Given the description of an element on the screen output the (x, y) to click on. 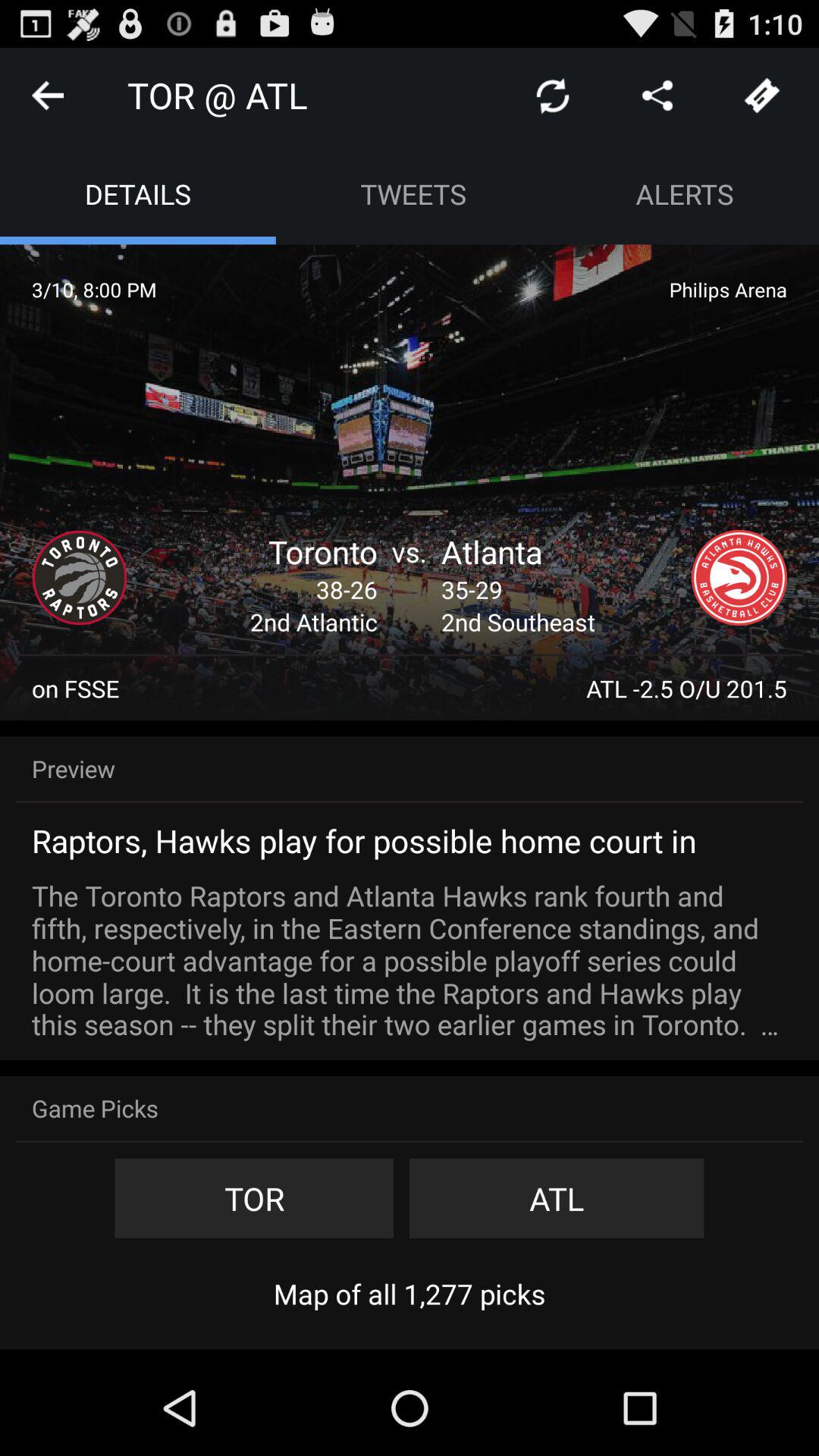
share the article (657, 95)
